Given the description of an element on the screen output the (x, y) to click on. 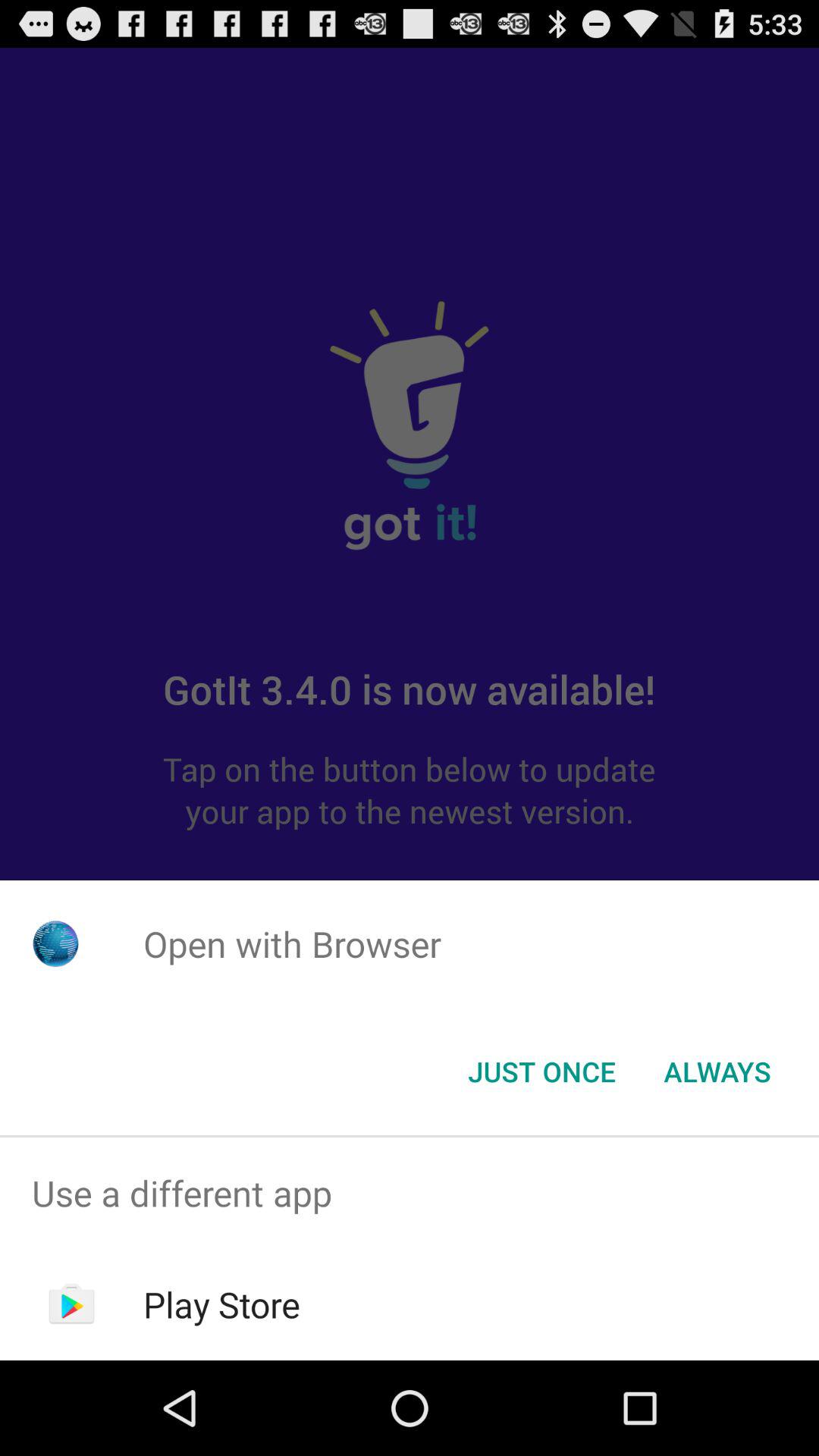
flip to the always (717, 1071)
